Given the description of an element on the screen output the (x, y) to click on. 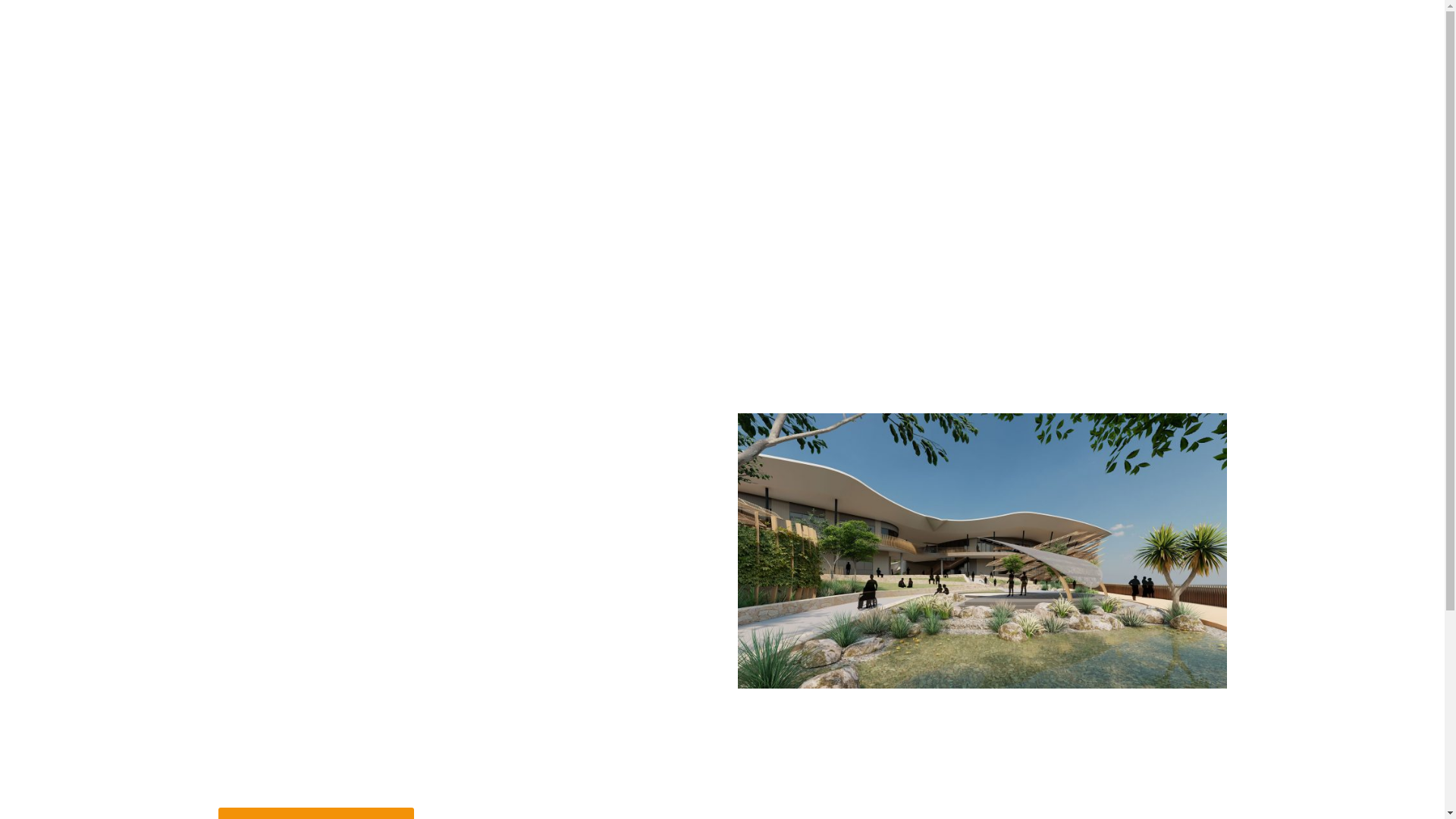
News Element type: text (685, 68)
Larrakia Cultural Centre Element type: hover (320, 68)
Working Group Element type: text (770, 68)
Supporters Element type: text (873, 68)
Design Element type: text (485, 68)
Construction Phase Element type: text (587, 68)
Contact Element type: text (954, 68)
